Given the description of an element on the screen output the (x, y) to click on. 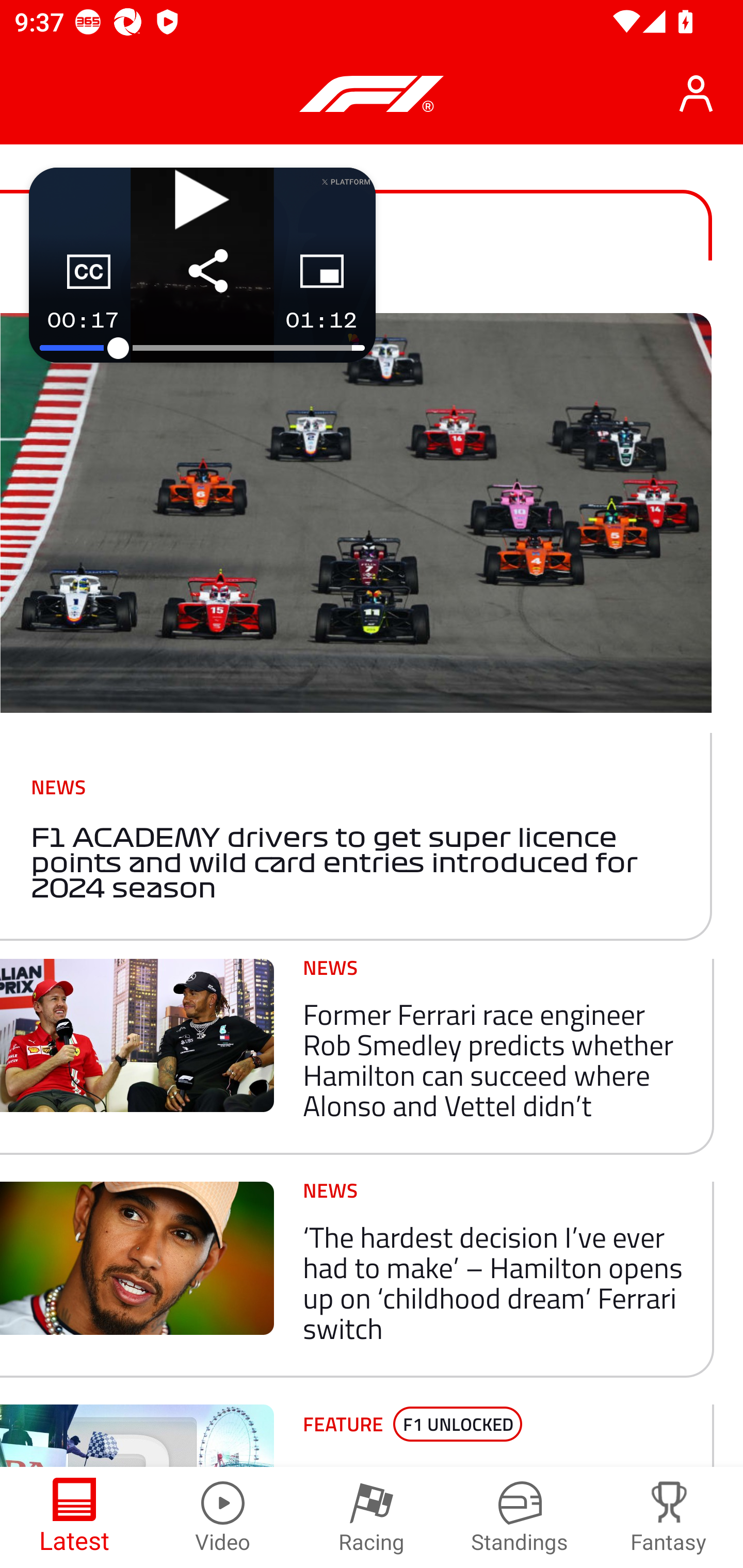
Video (222, 1517)
Racing (371, 1517)
Standings (519, 1517)
Fantasy (668, 1517)
